Given the description of an element on the screen output the (x, y) to click on. 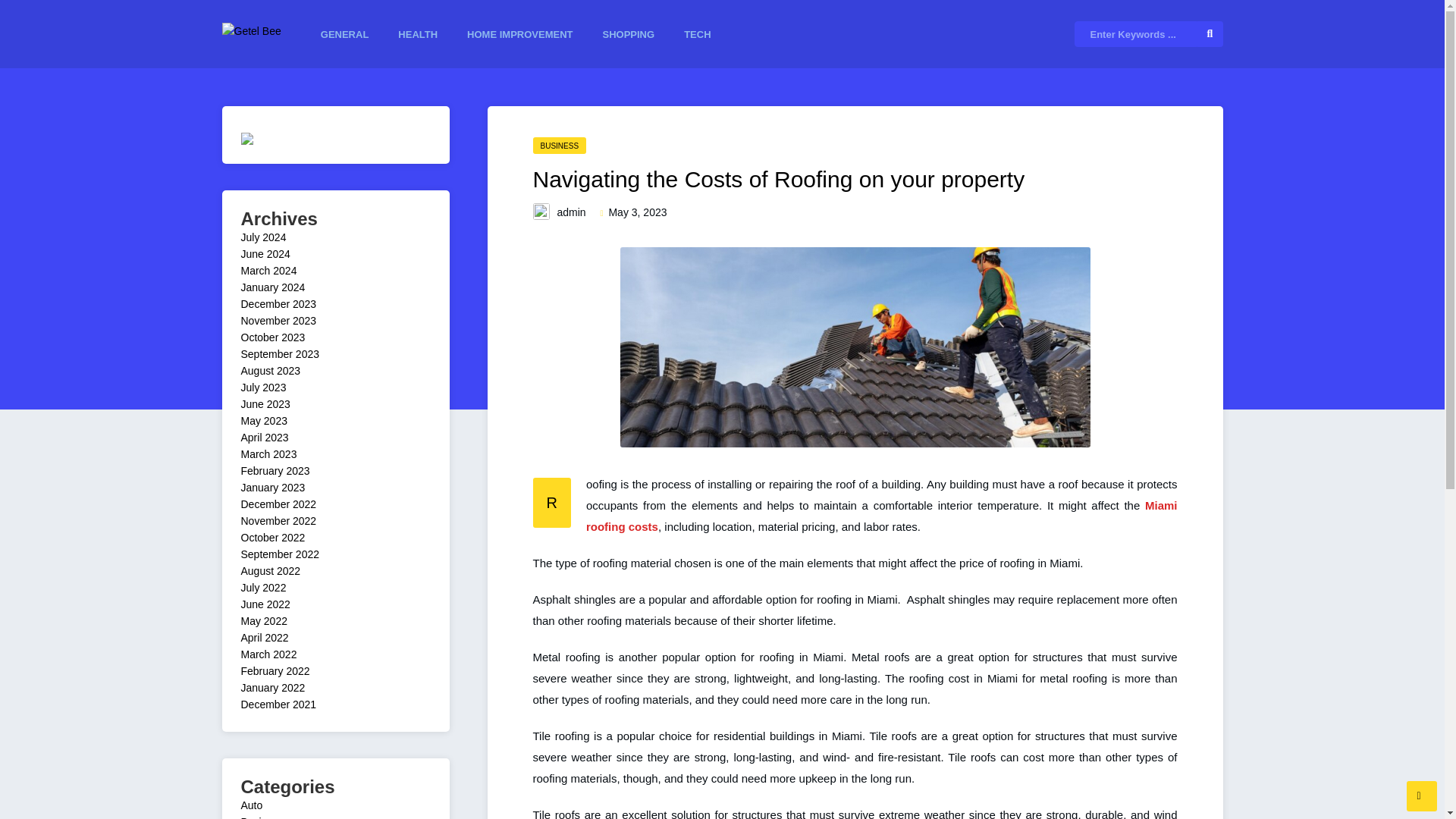
March 2024 (269, 270)
Miami roofing costs (881, 515)
November 2022 (279, 521)
July 2022 (263, 587)
April 2023 (264, 437)
October 2022 (273, 537)
January 2023 (273, 487)
July 2023 (263, 387)
June 2022 (265, 604)
SHOPPING (628, 34)
GENERAL (344, 34)
September 2023 (280, 354)
February 2022 (275, 671)
June 2023 (265, 404)
September 2022 (280, 553)
